Given the description of an element on the screen output the (x, y) to click on. 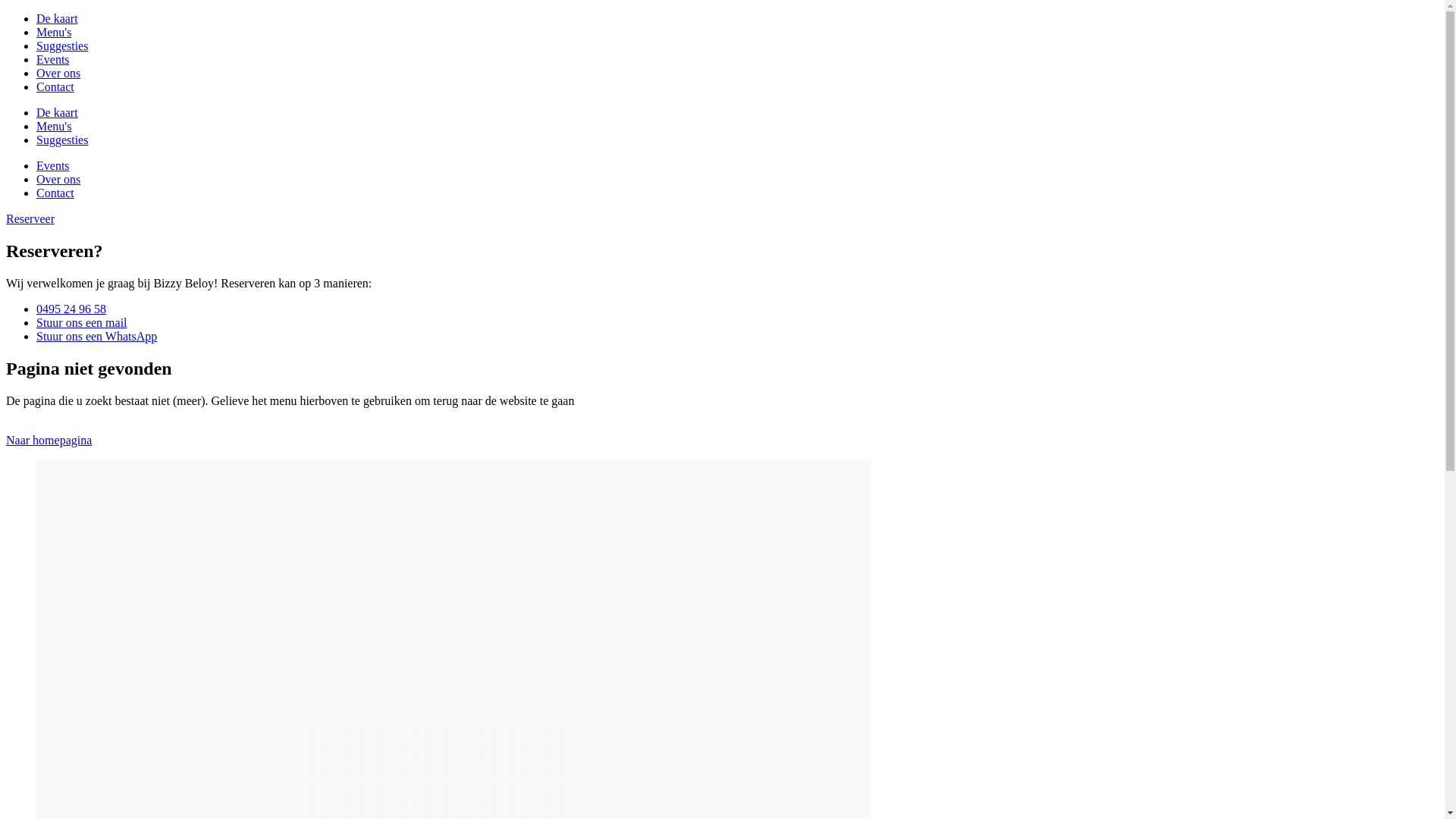
Suggesties Element type: text (61, 45)
Over ons Element type: text (58, 178)
Contact Element type: text (55, 86)
0495 24 96 58 Element type: text (71, 308)
Suggesties Element type: text (61, 139)
De kaart Element type: text (57, 112)
Menu's Element type: text (53, 31)
Events Element type: text (52, 165)
Reserveer Element type: text (30, 218)
Stuur ons een mail Element type: text (81, 322)
Contact Element type: text (55, 192)
Menu's Element type: text (53, 125)
Naar homepagina Element type: text (48, 439)
De kaart Element type: text (57, 18)
Stuur ons een WhatsApp Element type: text (96, 335)
Over ons Element type: text (58, 72)
Events Element type: text (52, 59)
